Given the description of an element on the screen output the (x, y) to click on. 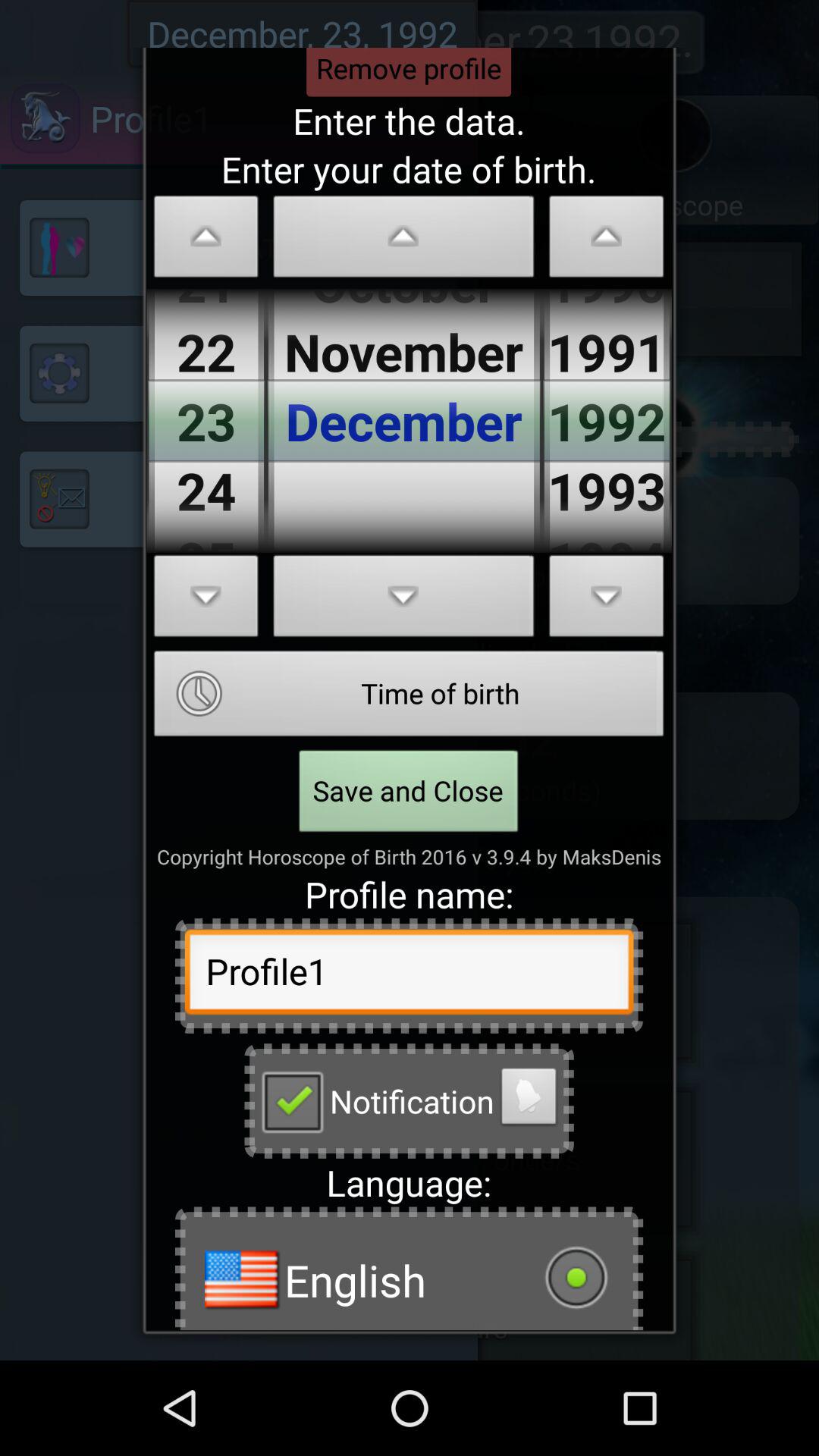
adjust the year of birth (606, 240)
